Given the description of an element on the screen output the (x, y) to click on. 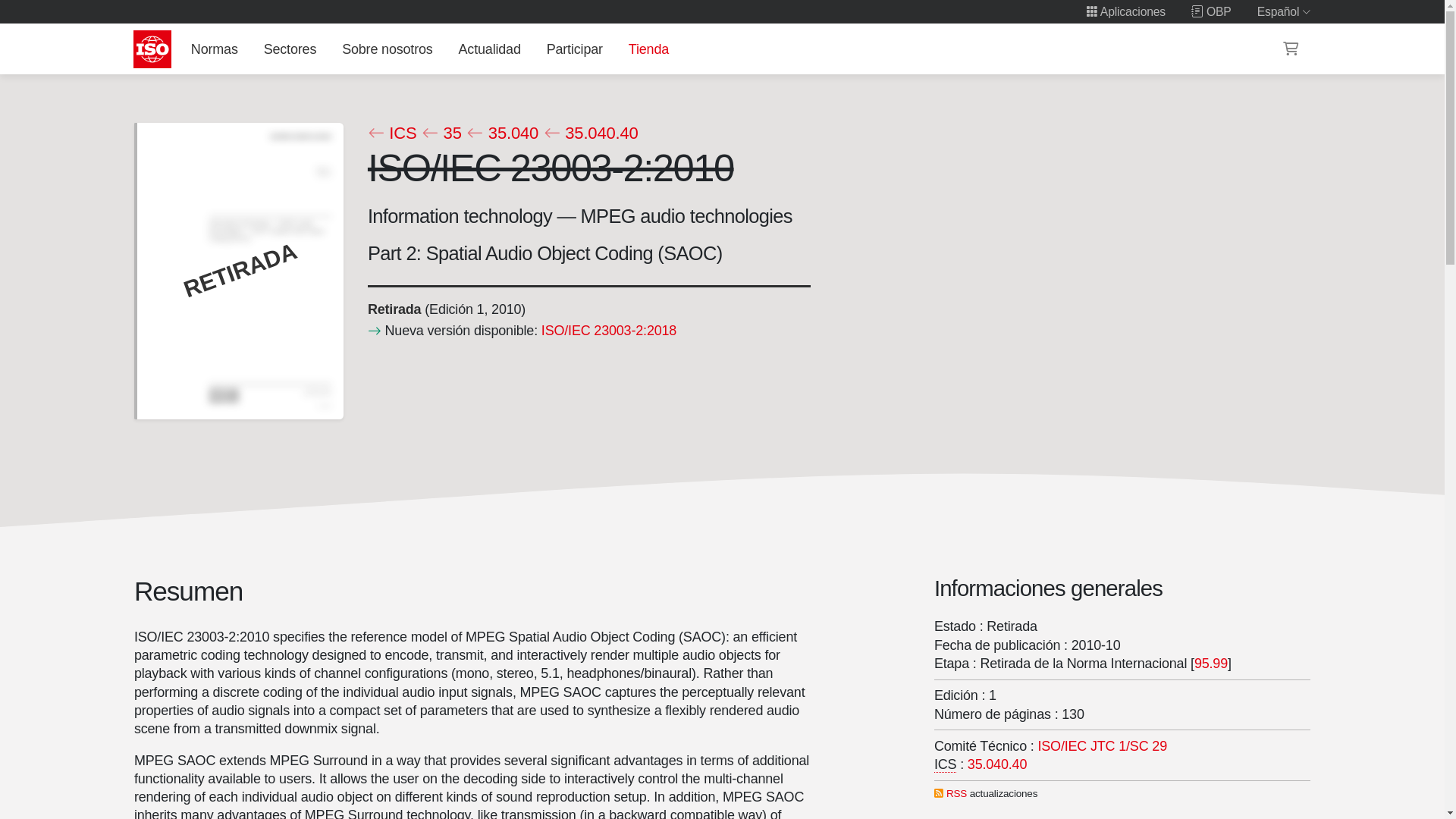
35 (441, 133)
95.99 (1210, 663)
35.040 (501, 133)
Carro de la compra (1290, 49)
RSS (956, 793)
Normas (214, 48)
Retirada (393, 309)
ICS (391, 133)
